Given the description of an element on the screen output the (x, y) to click on. 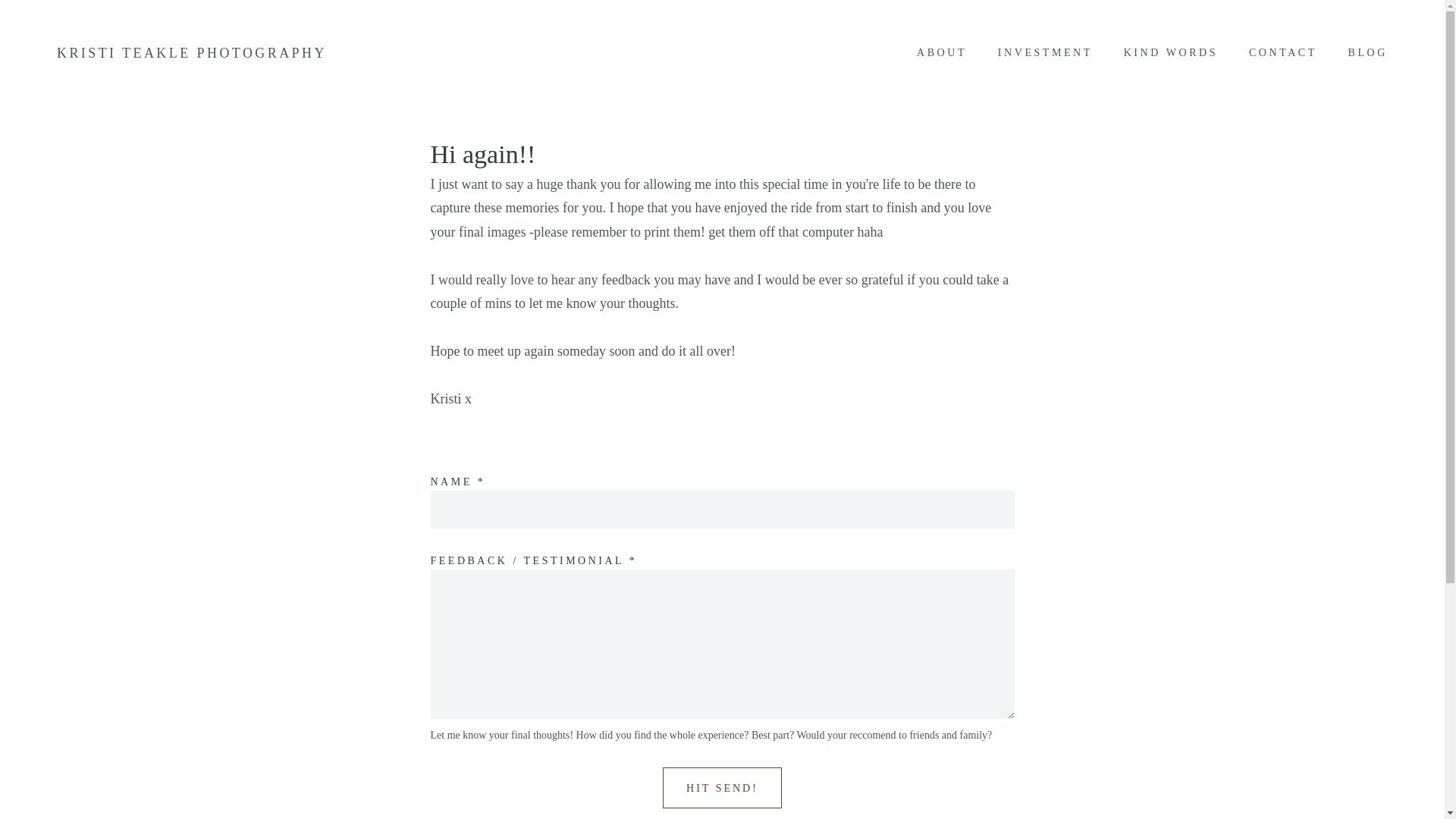
KRISTI TEAKLE PHOTOGRAPHY (191, 52)
KIND WORDS (1170, 53)
HIT SEND! (721, 787)
ABOUT (941, 53)
INVESTMENT (1044, 53)
BLOG (1367, 53)
CONTACT (1283, 53)
